Given the description of an element on the screen output the (x, y) to click on. 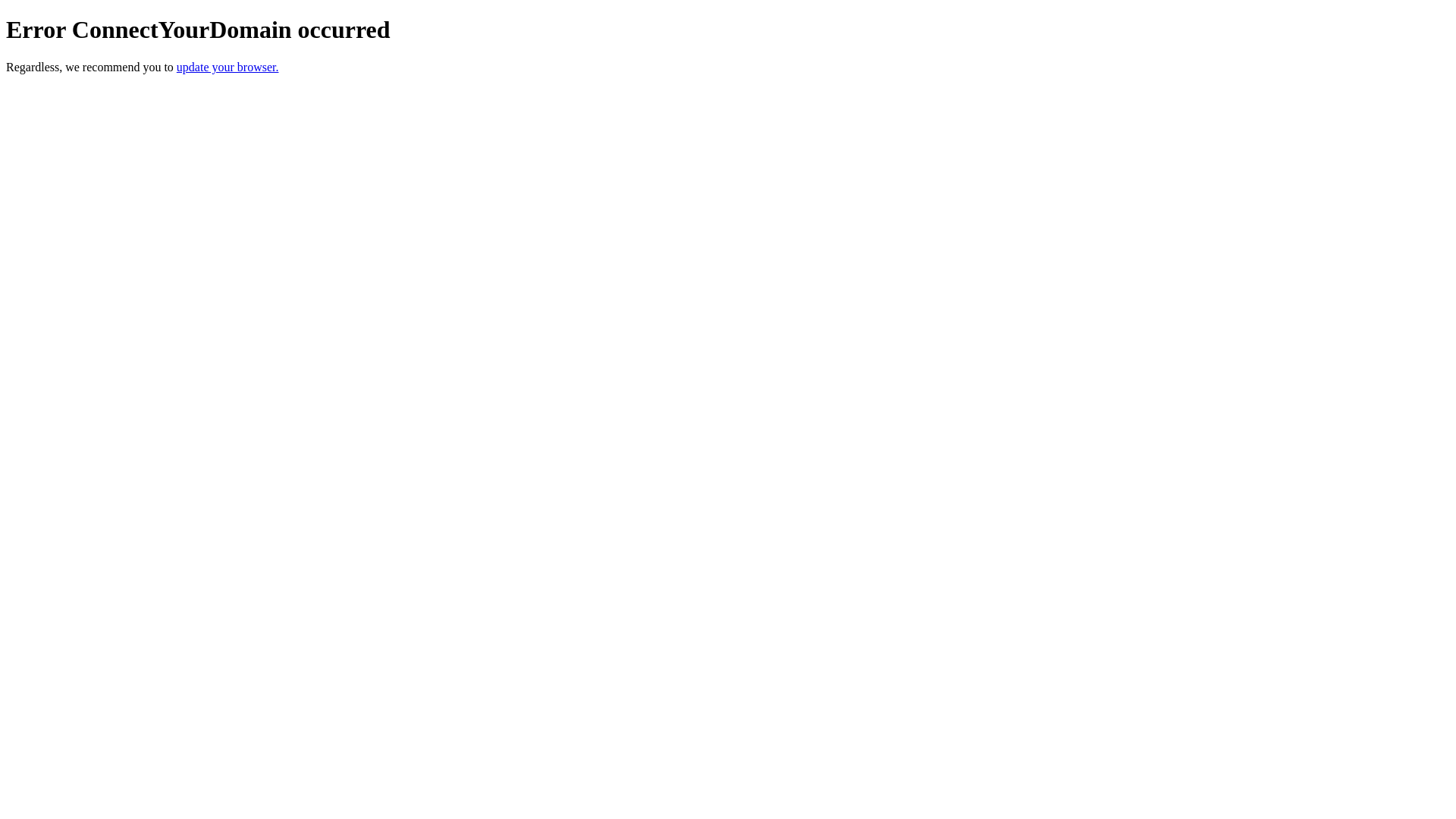
update your browser. Element type: text (227, 66)
